Given the description of an element on the screen output the (x, y) to click on. 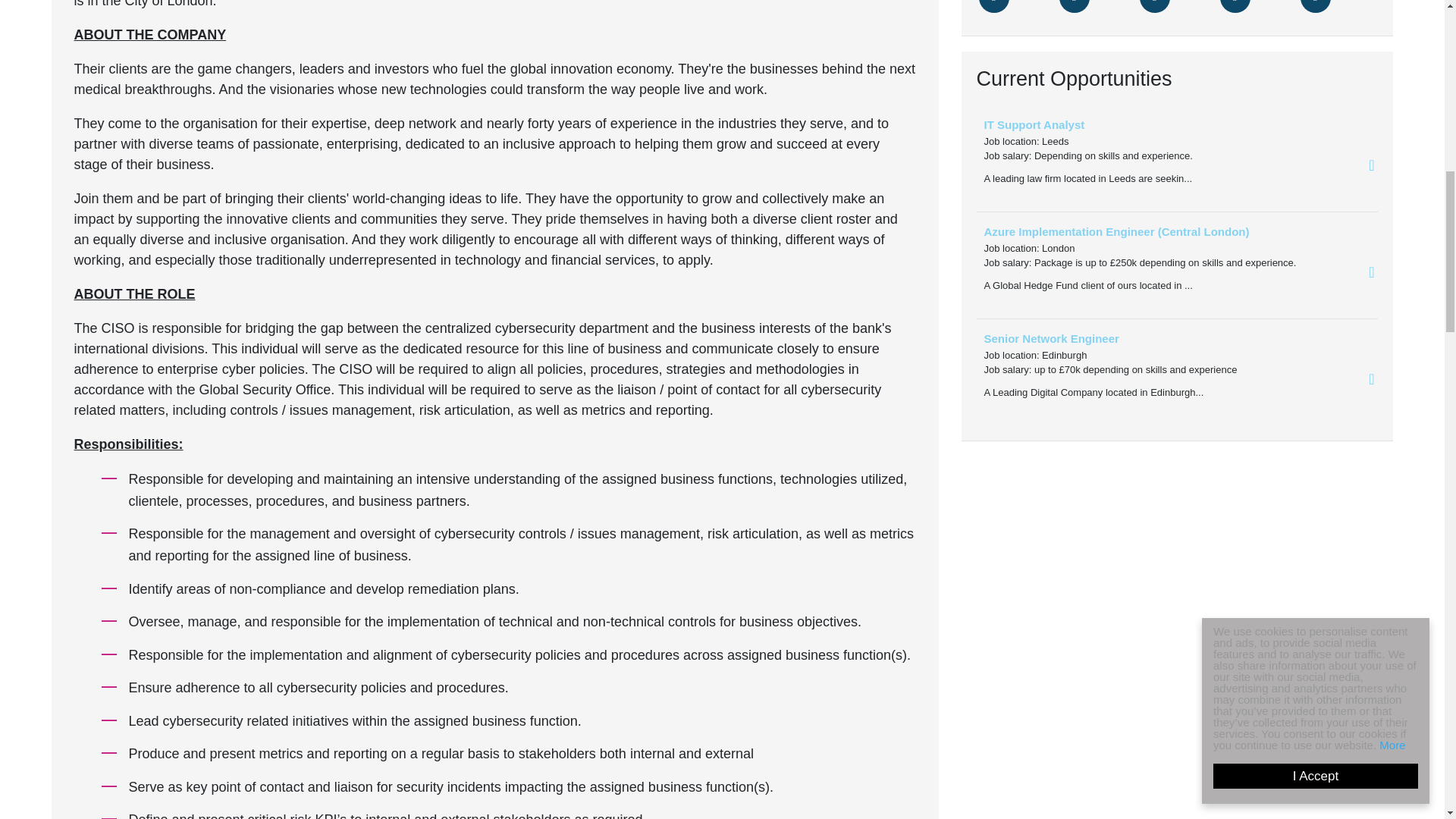
send in Whatsapp (1315, 6)
Email (1234, 6)
share on LinkedIn (1153, 6)
Tweet this (993, 6)
share on Facebook (1073, 6)
